Given the description of an element on the screen output the (x, y) to click on. 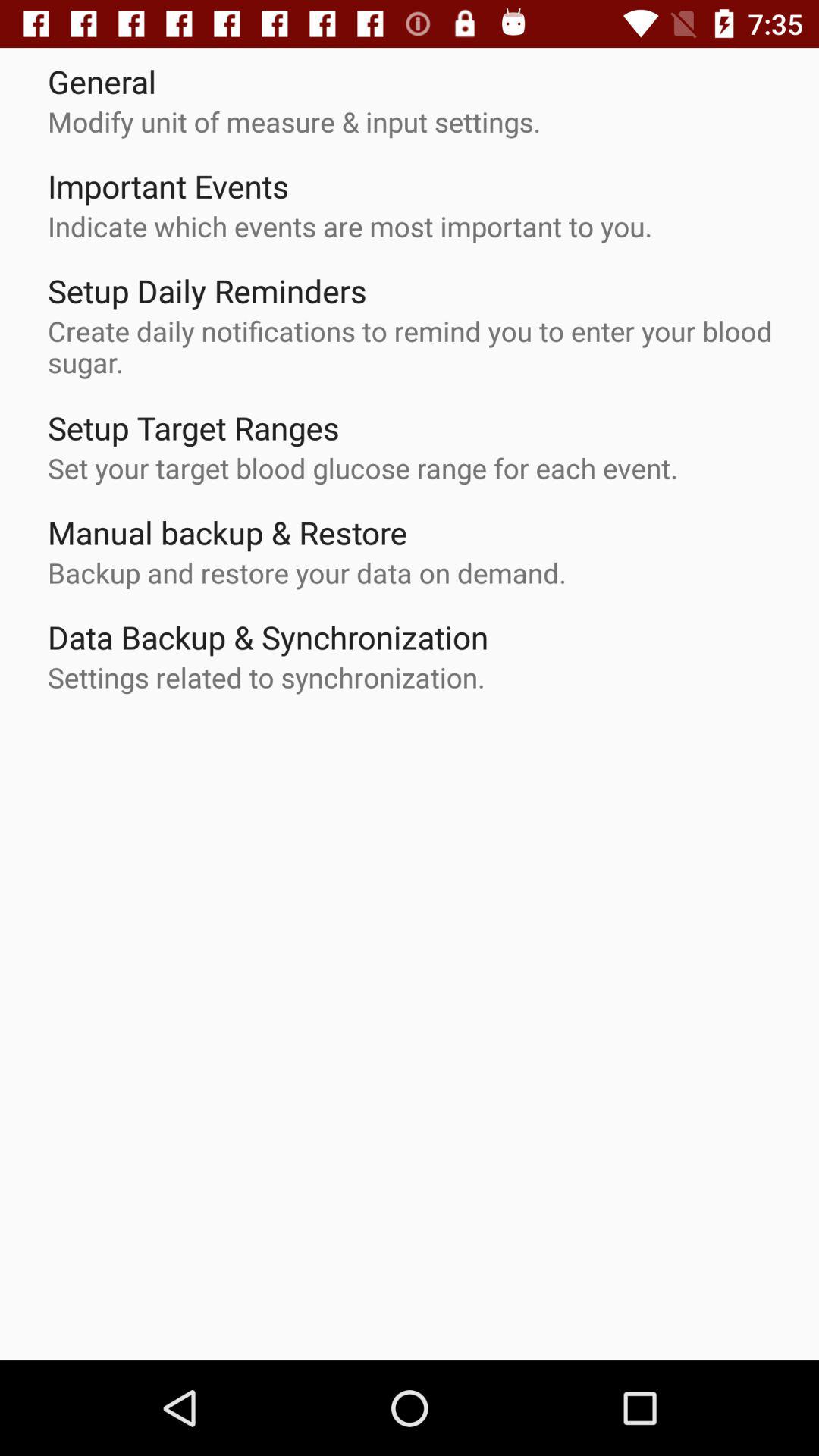
launch app above the modify unit of item (101, 80)
